Given the description of an element on the screen output the (x, y) to click on. 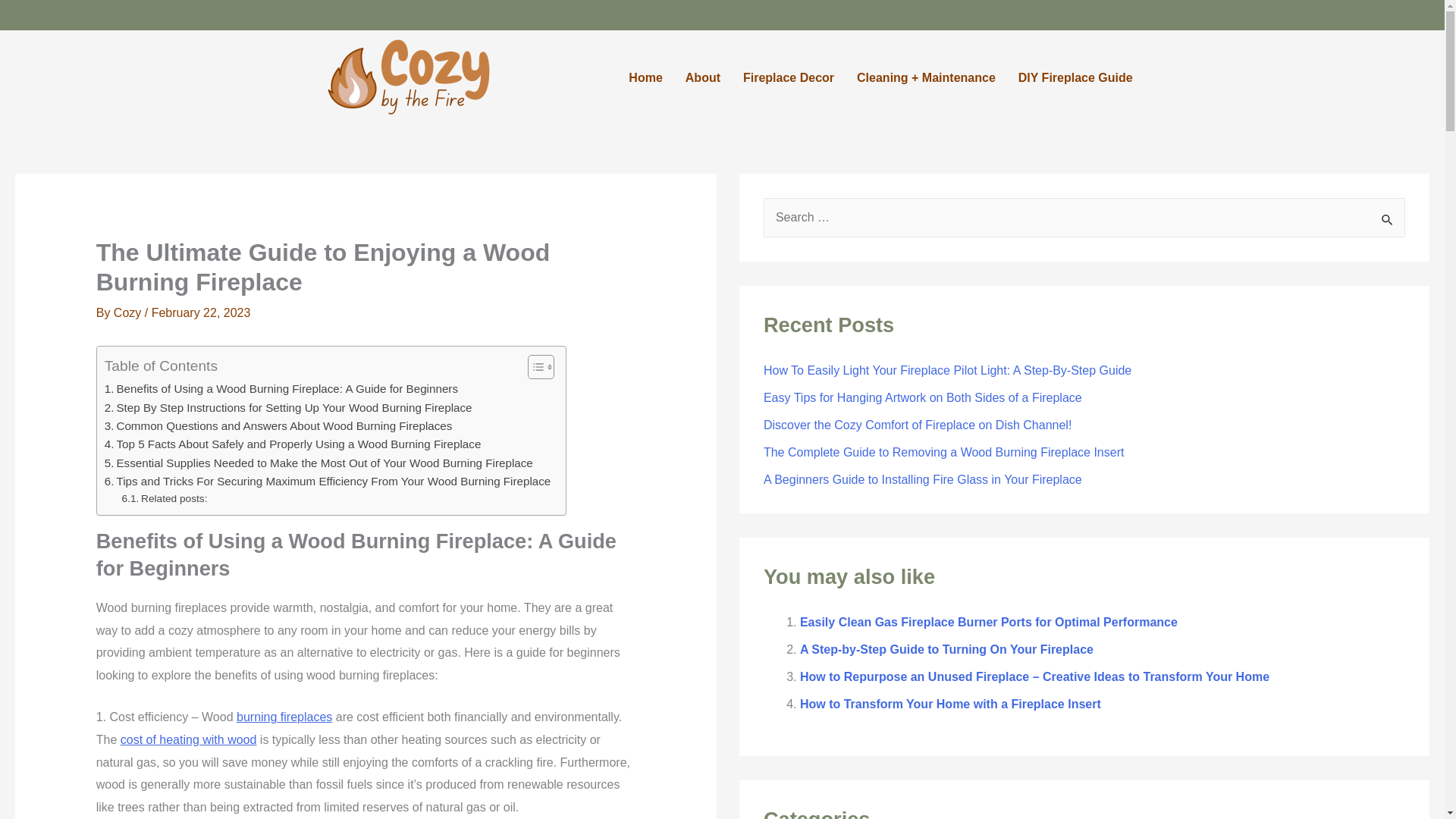
About (703, 77)
View all posts by Cozy (128, 312)
Home (644, 77)
burning fireplaces (283, 716)
Related posts: (165, 498)
Common Questions and Answers About Wood Burning Fireplaces (278, 425)
Cozy (128, 312)
Fireplace Decor (788, 77)
cost of heating with wood (188, 739)
